Given the description of an element on the screen output the (x, y) to click on. 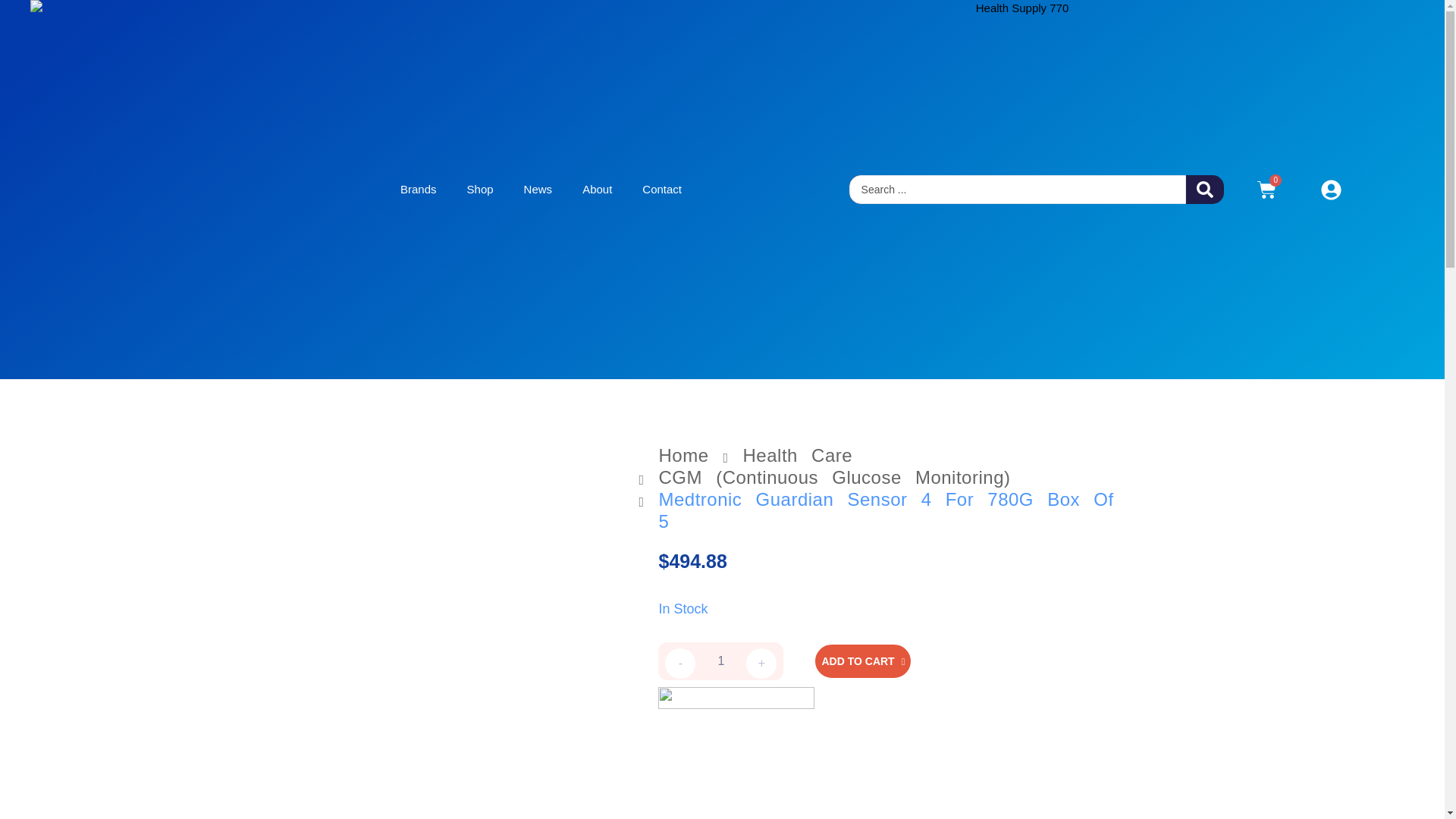
About (597, 189)
Brands (418, 189)
1 (720, 661)
Contact (662, 189)
News (537, 189)
Shop (479, 189)
